Given the description of an element on the screen output the (x, y) to click on. 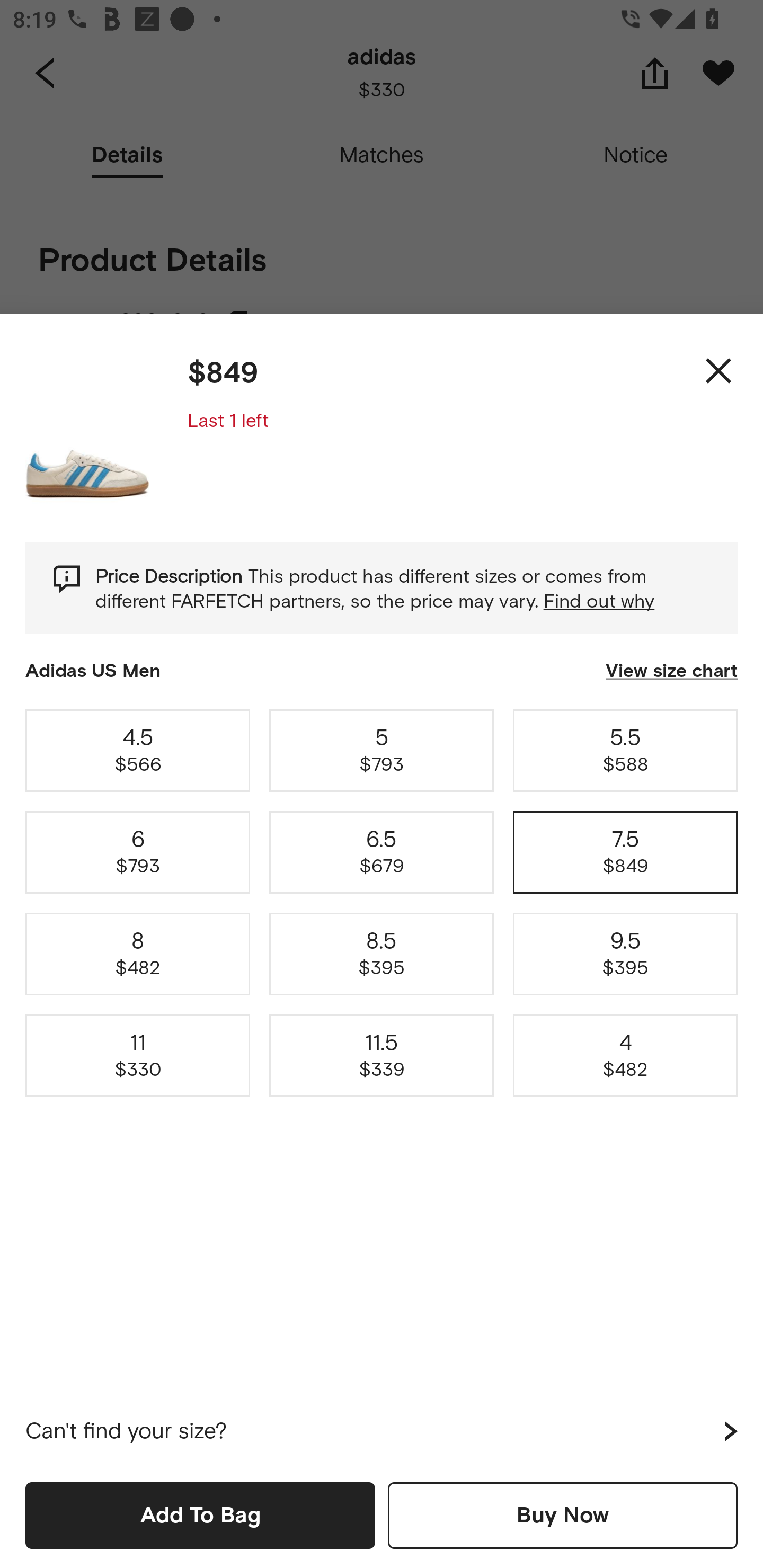
4.5 $566 (137, 749)
5 $793 (381, 749)
5.5 $588 (624, 749)
6 $793 (137, 851)
6.5 $679 (381, 851)
7.5 $849 (624, 851)
8 $482 (137, 953)
8.5 $395 (381, 953)
9.5 $395 (624, 953)
11 $330 (137, 1055)
11.5 $339 (381, 1055)
4 $482 (624, 1055)
Can't find your size? (381, 1431)
Add To Bag (200, 1515)
Buy Now (562, 1515)
